Given the description of an element on the screen output the (x, y) to click on. 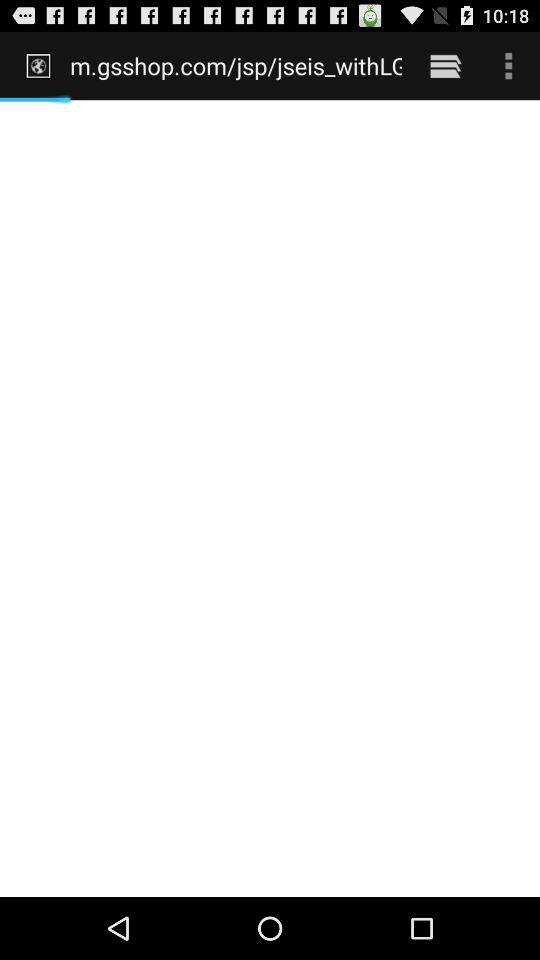
select item at the center (270, 497)
